Given the description of an element on the screen output the (x, y) to click on. 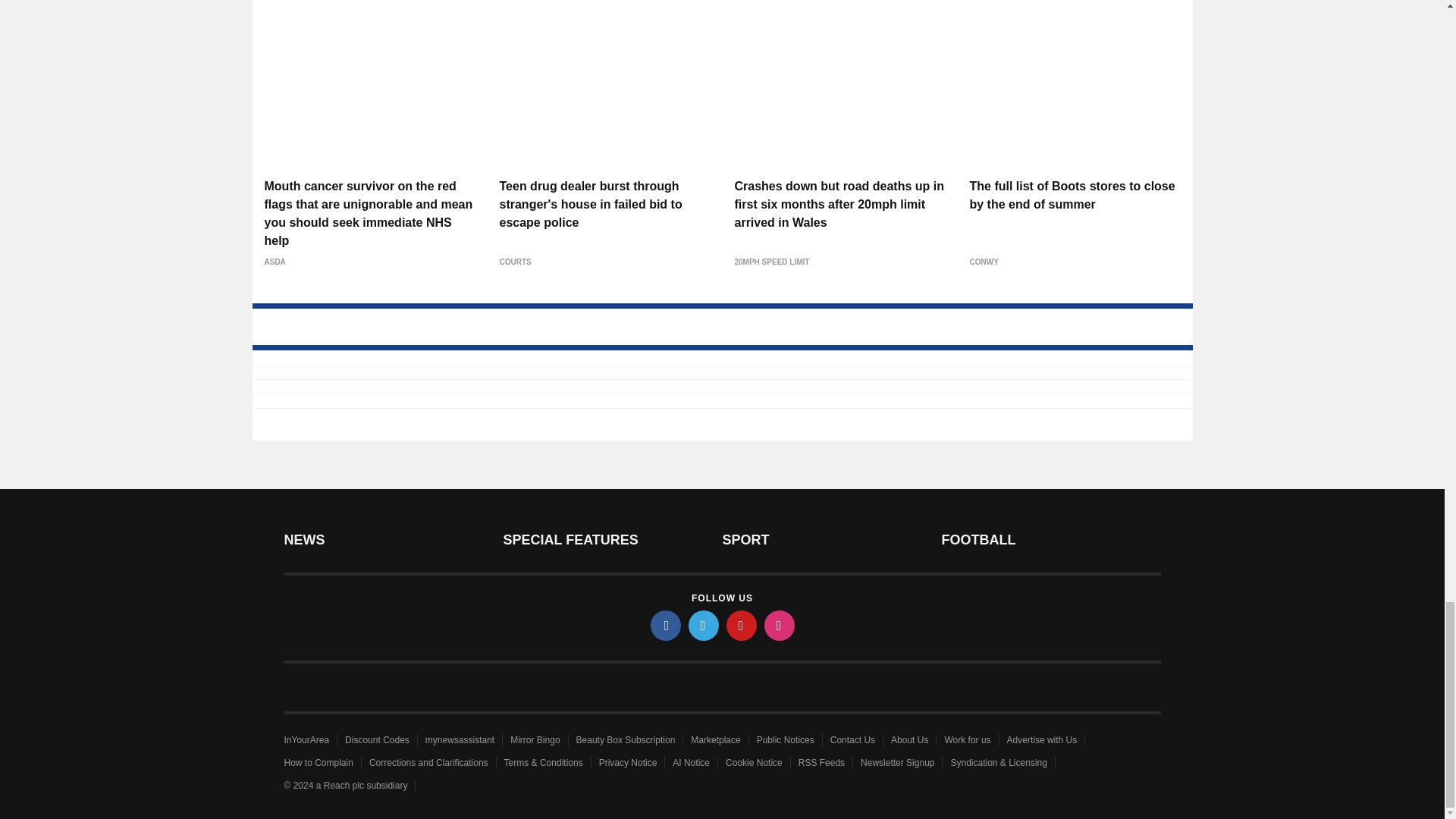
instagram (779, 625)
facebook (665, 625)
pinterest (741, 625)
twitter (703, 625)
